Given the description of an element on the screen output the (x, y) to click on. 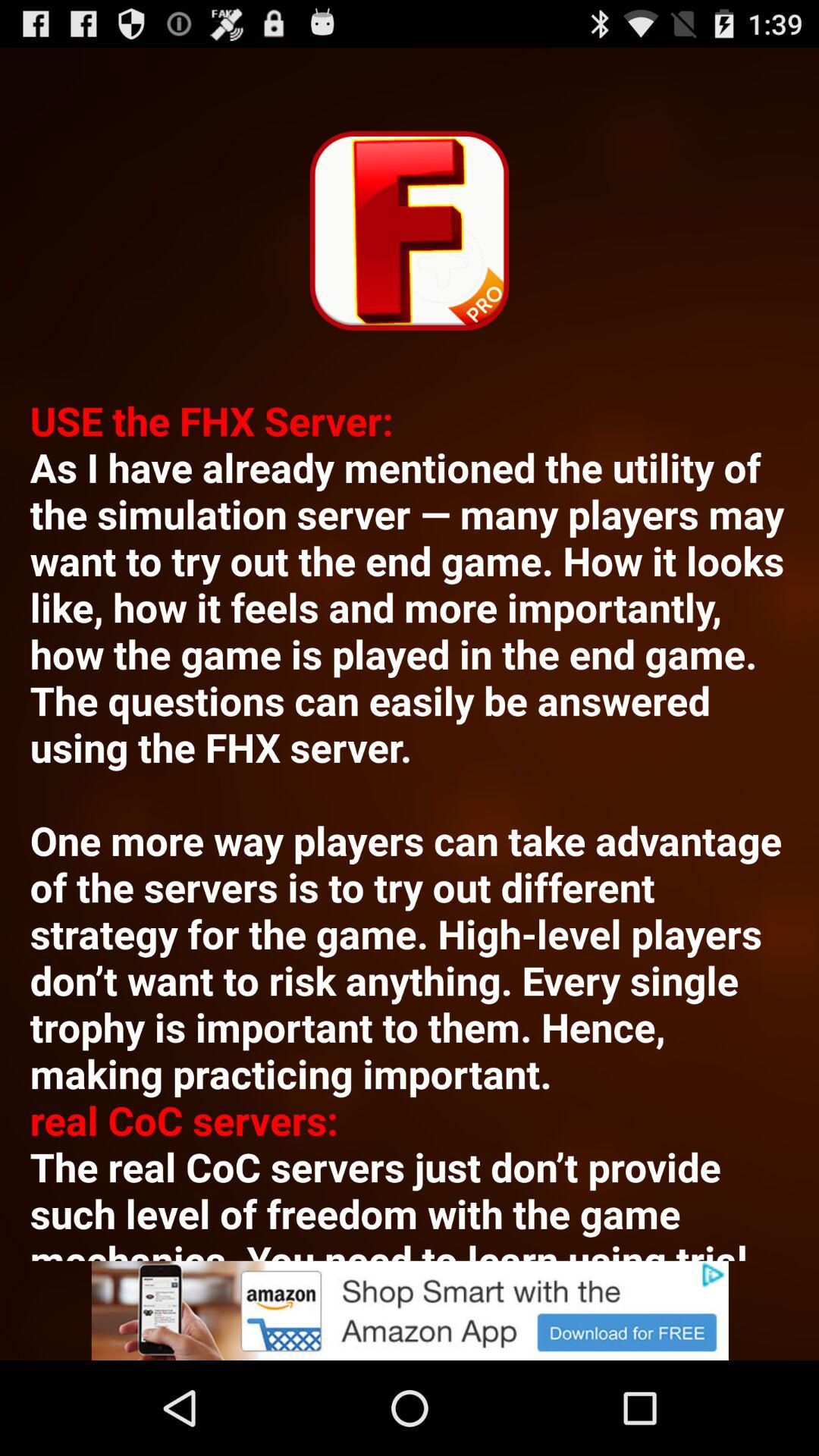
open advertisement (409, 1310)
